Given the description of an element on the screen output the (x, y) to click on. 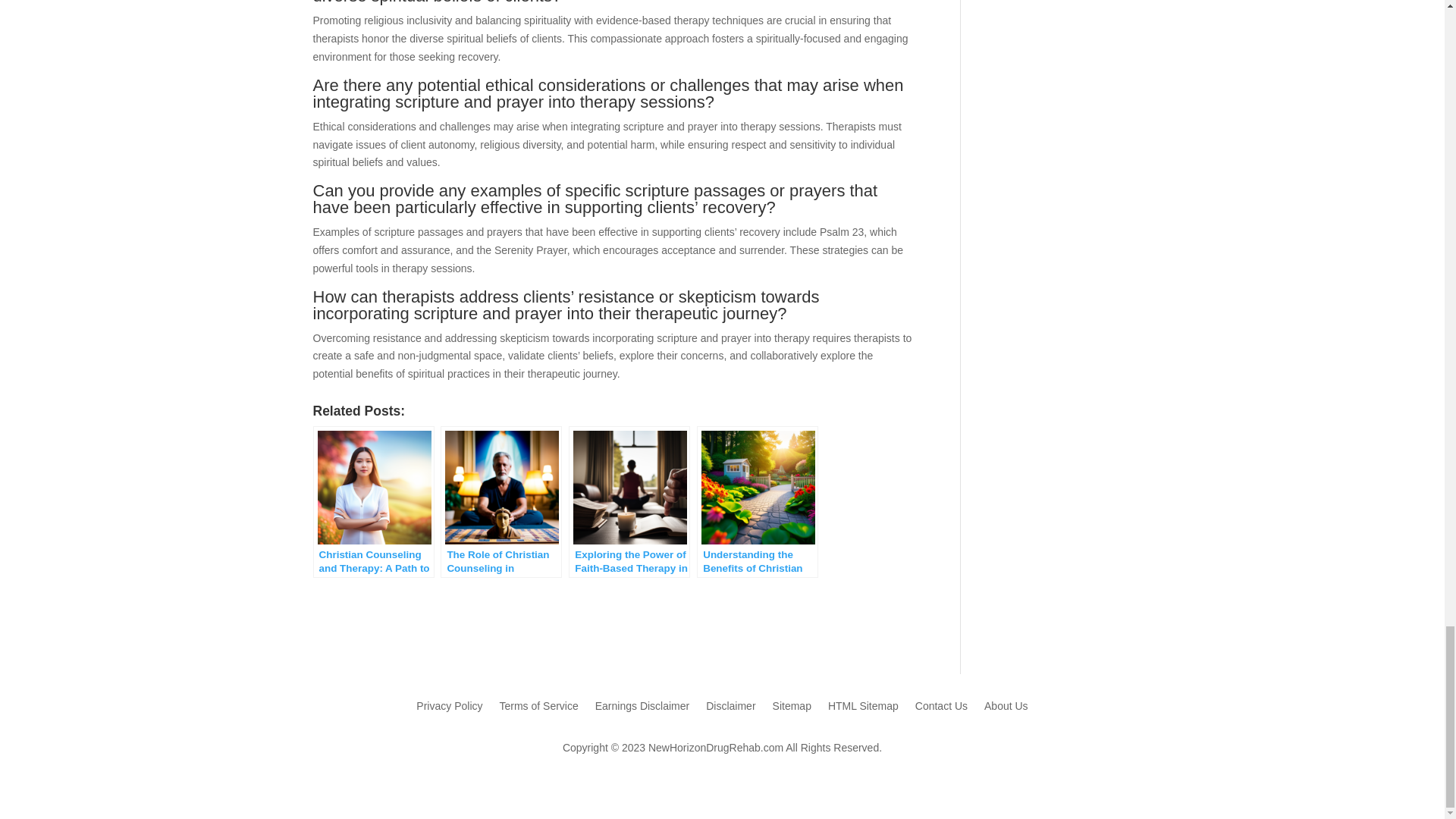
Earnings Disclaimer (641, 709)
Privacy Policy (448, 709)
The Role of Christian Counseling in Overcoming Addiction (502, 487)
Sitemap (791, 709)
Terms of Service (538, 709)
Disclaimer (730, 709)
